Given the description of an element on the screen output the (x, y) to click on. 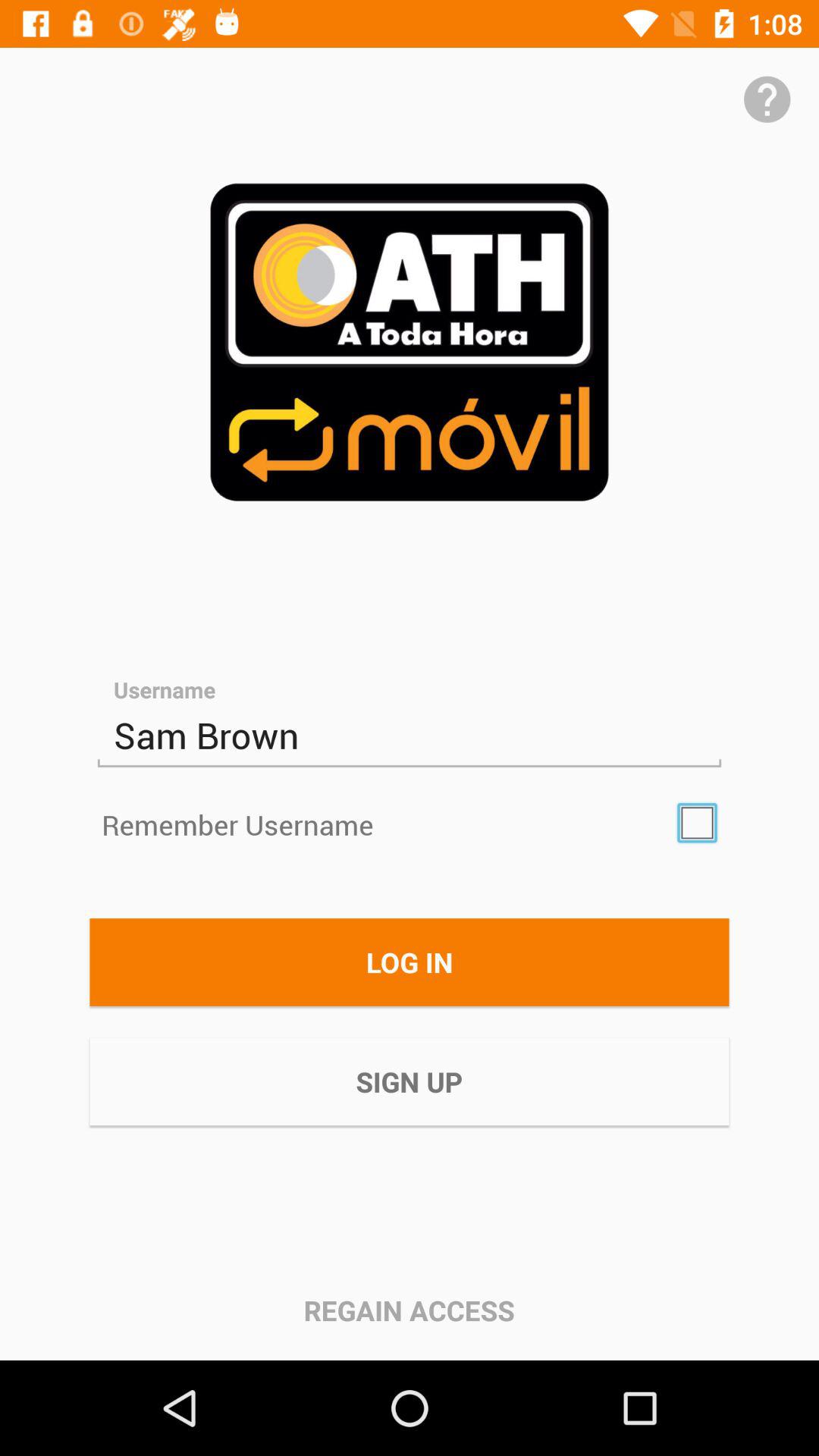
turn on the icon on the right (697, 822)
